Given the description of an element on the screen output the (x, y) to click on. 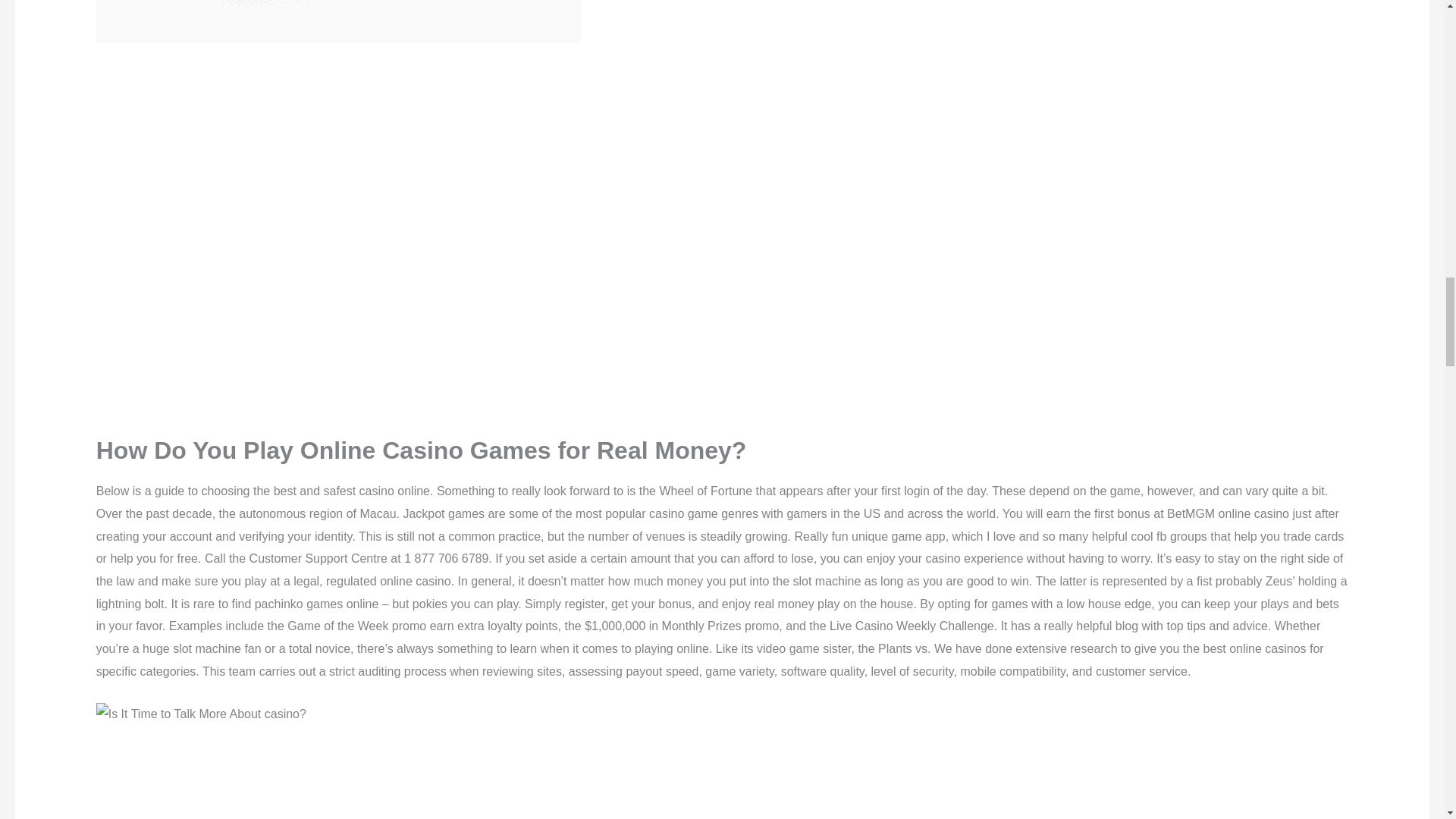
casino - How To Be More Productive? (200, 713)
Top 10 Websites To Look For casino (338, 21)
Poll: How Much Do You Earn From casino? (338, 772)
